Given the description of an element on the screen output the (x, y) to click on. 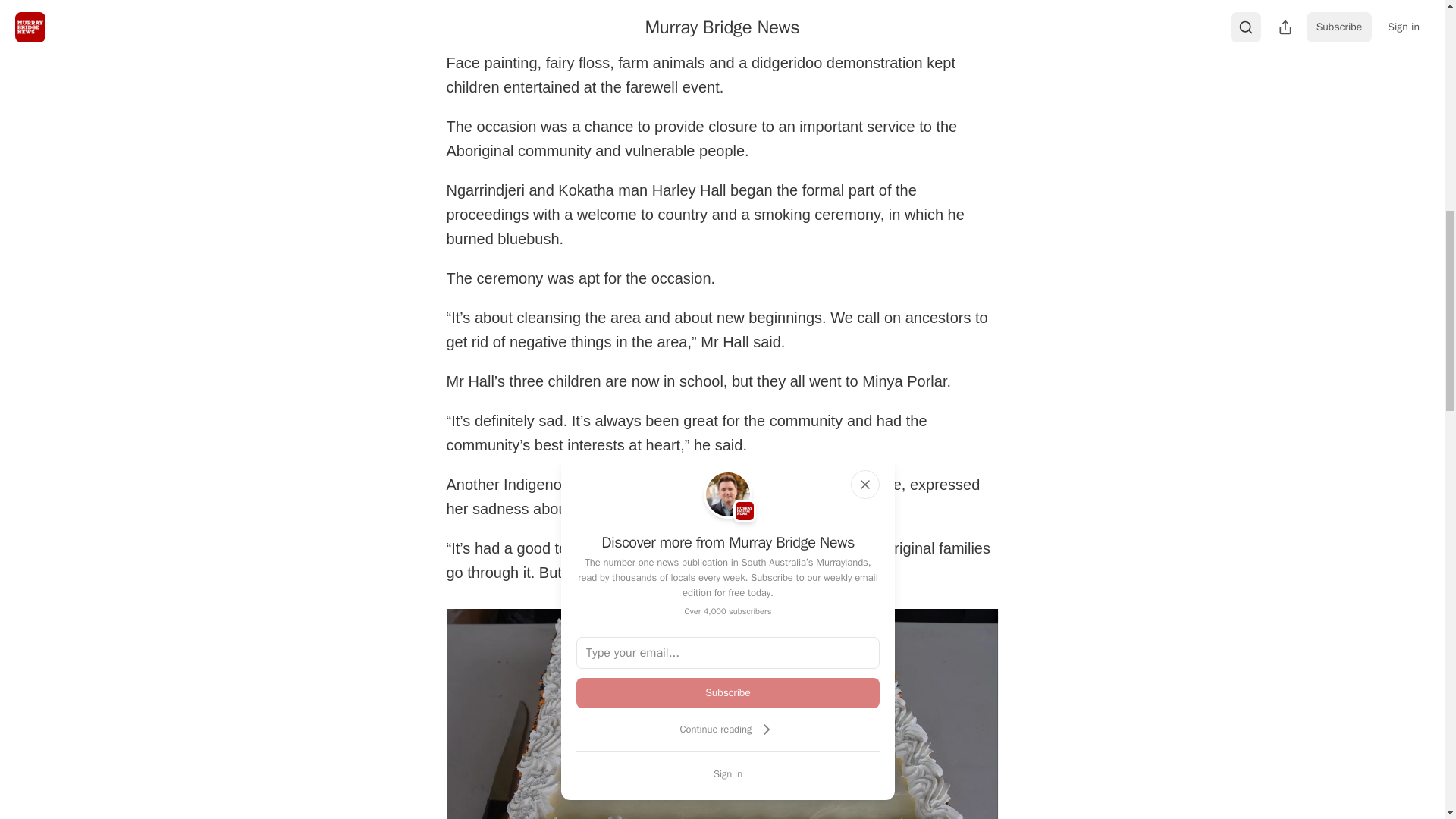
Sign in (727, 773)
Subscribe (727, 693)
